Given the description of an element on the screen output the (x, y) to click on. 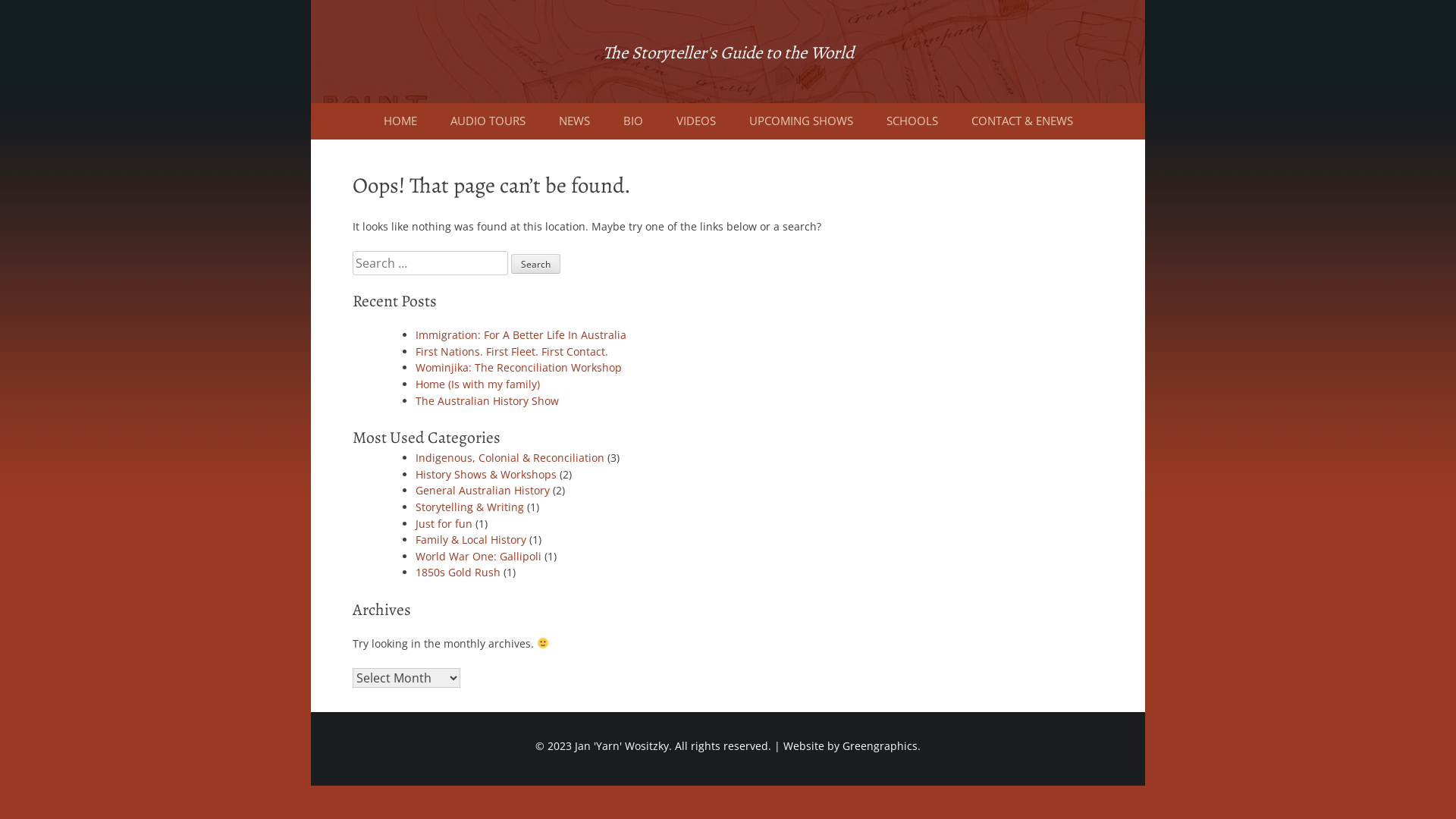
1850s Gold Rush Element type: text (457, 571)
Wominjika: The Reconciliation Workshop Element type: text (518, 367)
First Nations. First Fleet. First Contact. Element type: text (511, 351)
SCHOOLS Element type: text (911, 121)
Skip to content Element type: text (310, 0)
Family & Local History Element type: text (470, 539)
UPCOMING SHOWS Element type: text (801, 121)
CONTACT & ENEWS Element type: text (1021, 121)
Just for fun Element type: text (443, 523)
AUDIO TOURS Element type: text (487, 121)
Storytelling & Writing Element type: text (469, 506)
Jan 'Yarn' Wositzky Element type: text (621, 745)
Search Element type: text (535, 263)
VIDEOS Element type: text (696, 121)
The Australian History Show Element type: text (486, 400)
HOME Element type: text (400, 121)
History Shows & Workshops Element type: text (485, 474)
Home (Is with my family) Element type: text (477, 383)
World War One: Gallipoli Element type: text (478, 556)
General Australian History Element type: text (482, 490)
Indigenous, Colonial & Reconciliation Element type: text (509, 457)
Greengraphics Element type: text (879, 745)
NEWS Element type: text (573, 121)
BIO Element type: text (633, 121)
Immigration: For A Better Life In Australia Element type: text (520, 334)
